Given the description of an element on the screen output the (x, y) to click on. 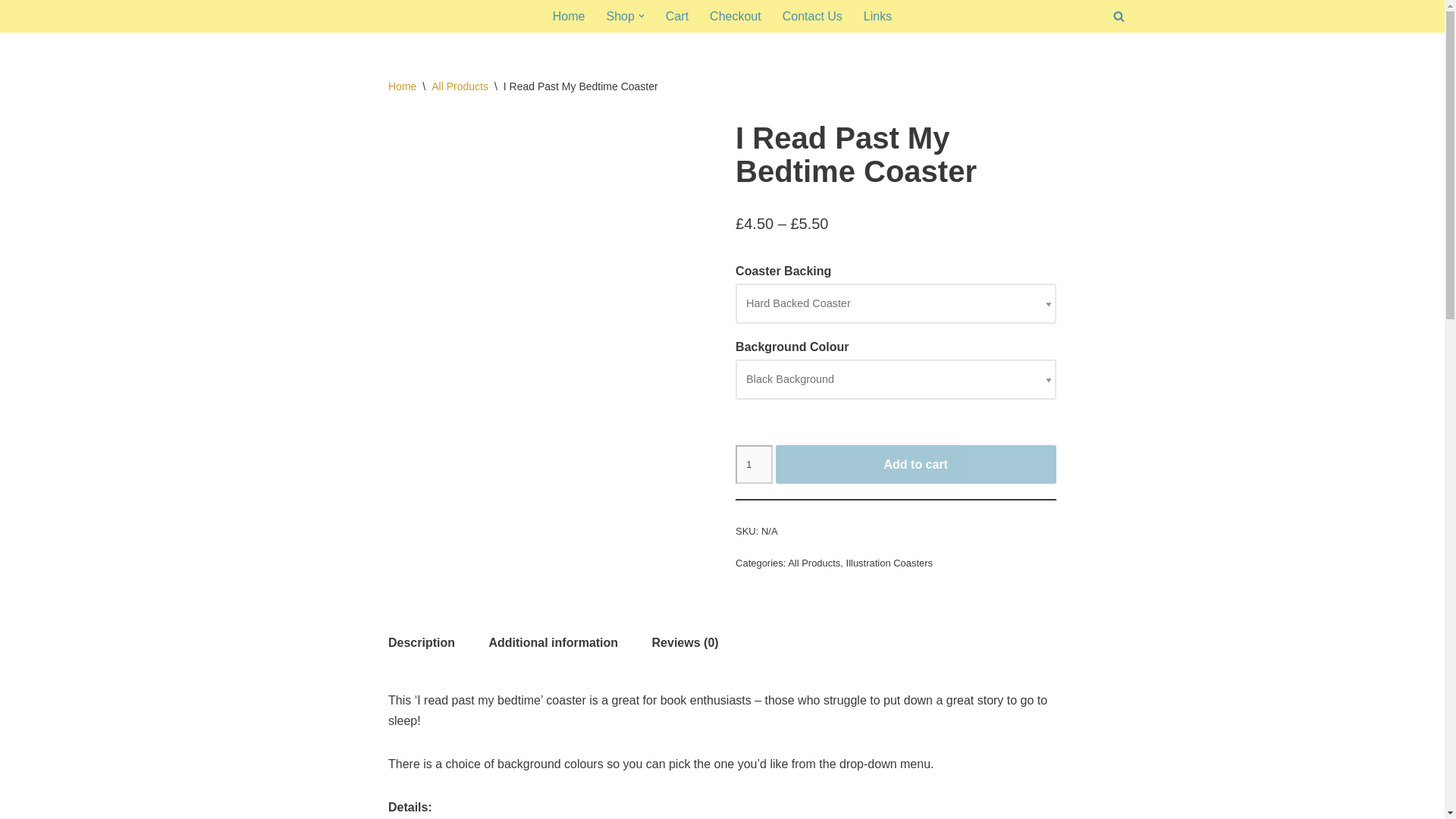
Home (569, 15)
Skip to content (11, 31)
Links (877, 15)
Contact Us (813, 15)
Cart (676, 15)
Home (402, 86)
Checkout (735, 15)
All Products (458, 86)
1 (753, 464)
Shop (619, 15)
